Given the description of an element on the screen output the (x, y) to click on. 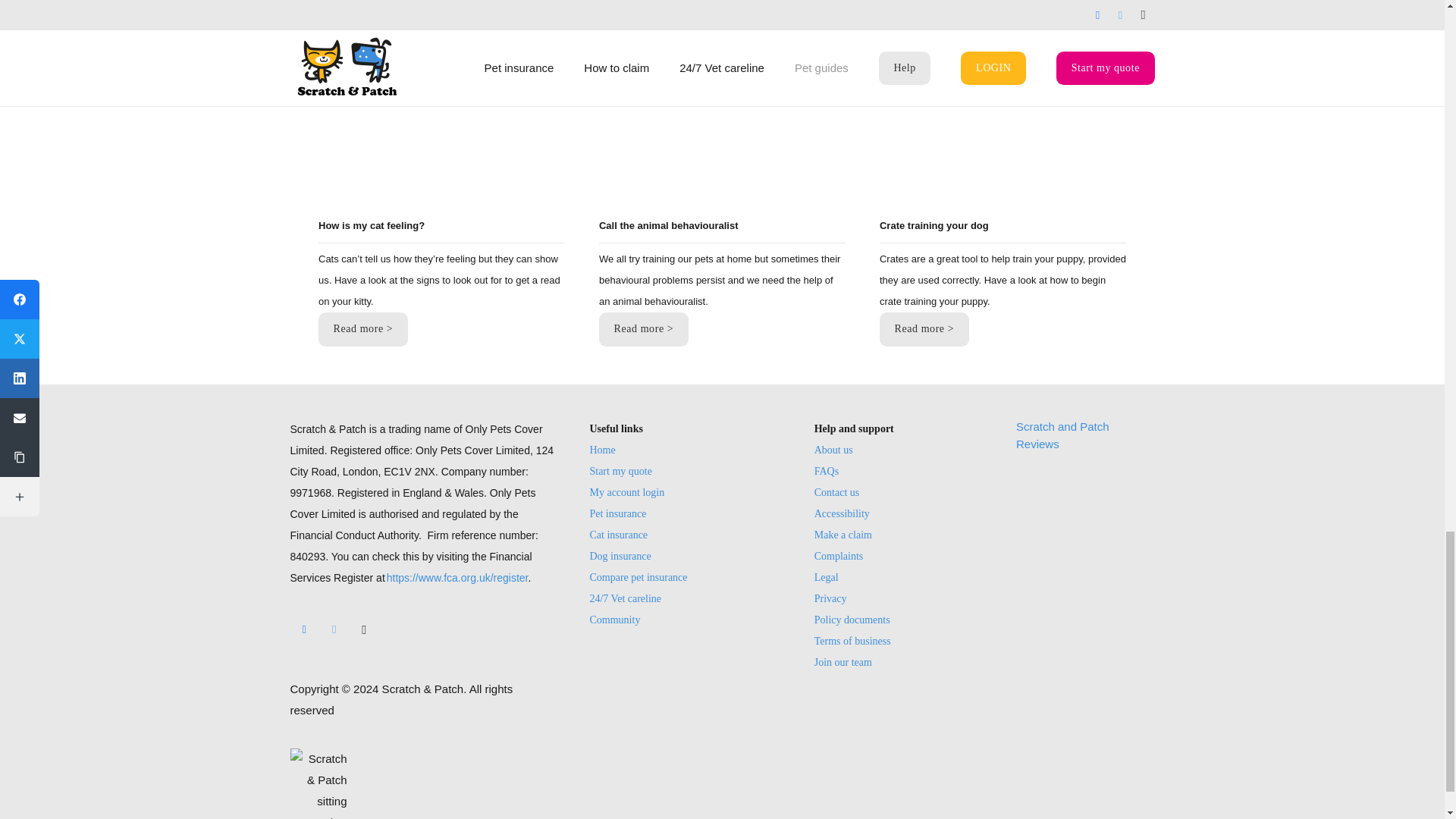
Twitter (334, 629)
Facebook (303, 629)
Instagram (364, 629)
